Given the description of an element on the screen output the (x, y) to click on. 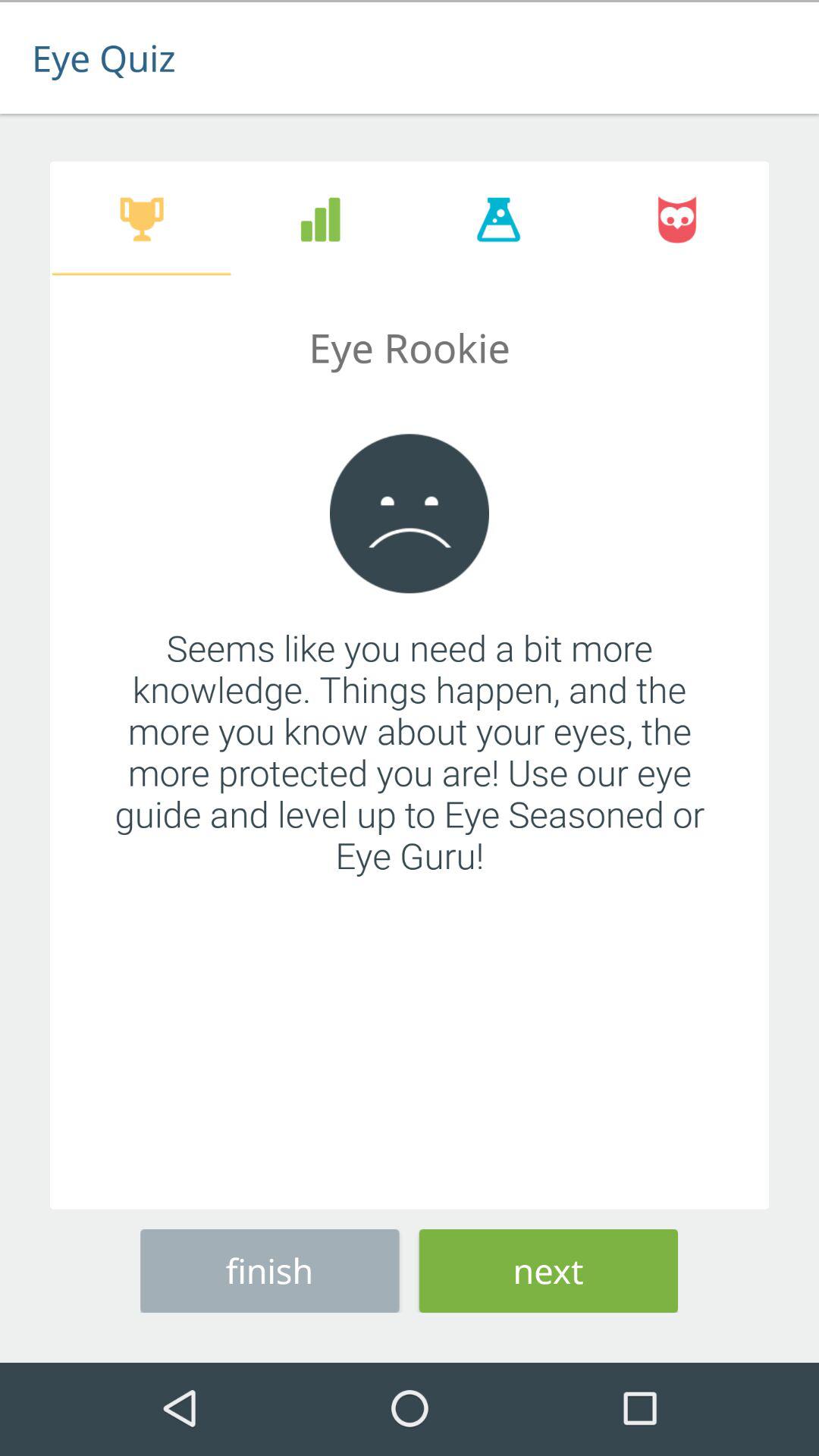
turn off finish icon (269, 1268)
